Given the description of an element on the screen output the (x, y) to click on. 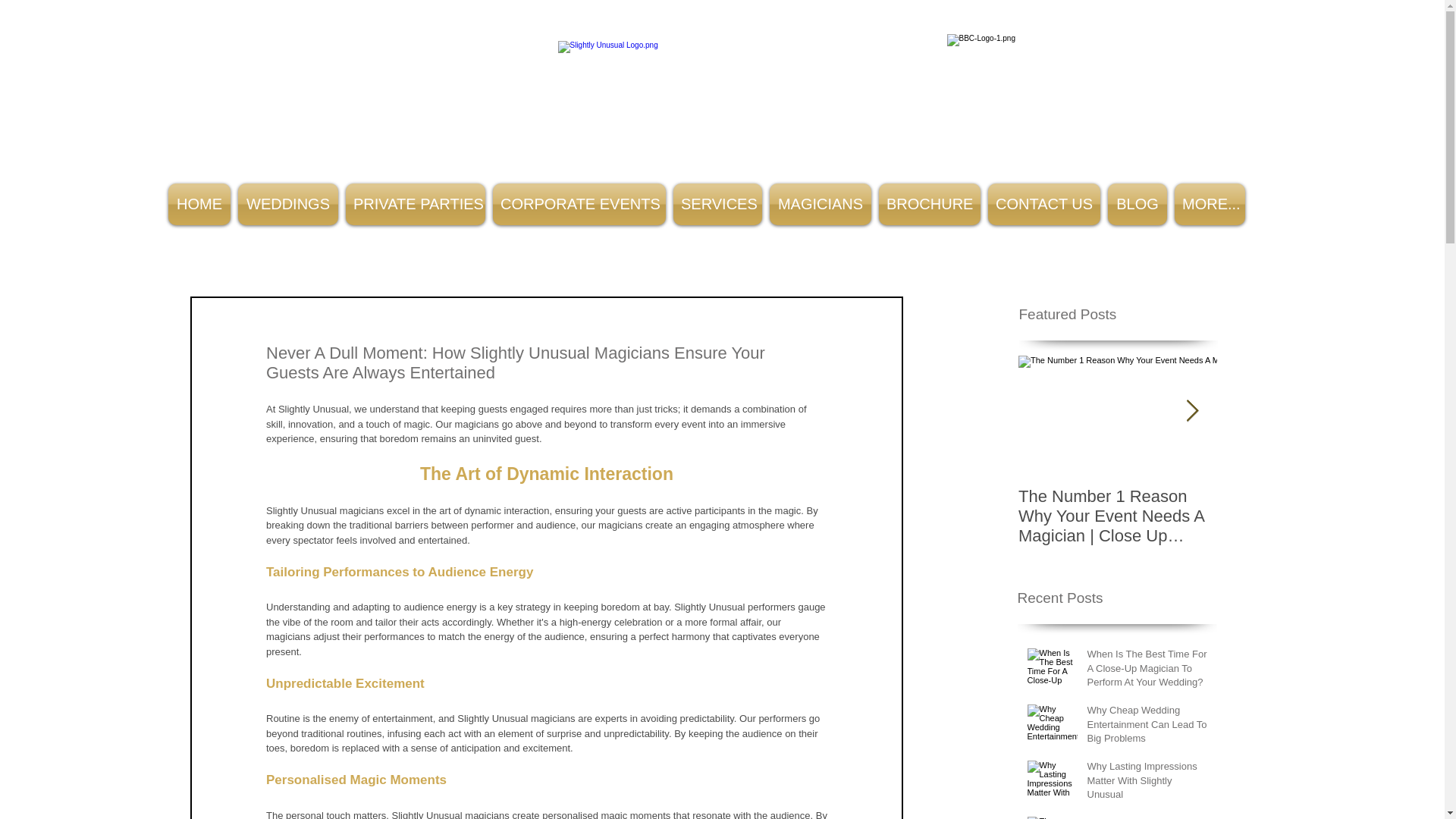
Non Stop Kids Entertainment (721, 95)
CORPORATE EVENTS (579, 204)
The Number One Reason Your Event Needs A Magician (1147, 817)
BROCHURE (929, 204)
BLOG (1136, 204)
Why Lasting Impressions Matter With Slightly Unusual (1147, 783)
HOME (199, 204)
MAGICIANS (820, 204)
Why Cheap Wedding Entertainment Can Lead To Big Problems (1147, 727)
